Given the description of an element on the screen output the (x, y) to click on. 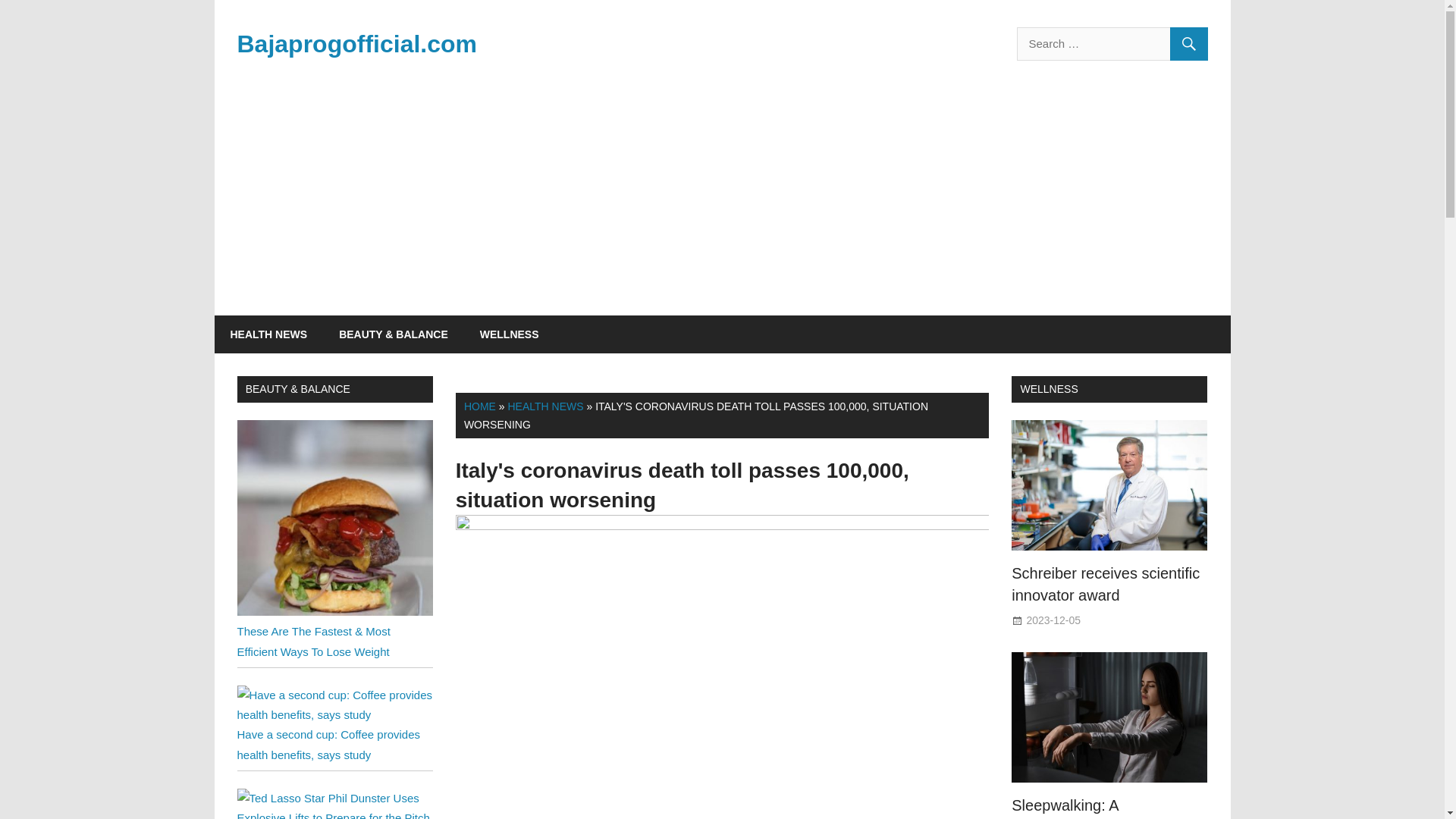
HEALTH NEWS (544, 406)
HOME (480, 406)
Search for: (1111, 43)
Bajaprogofficial.com (356, 43)
WELLNESS (509, 333)
HEALTH NEWS (268, 333)
